Given the description of an element on the screen output the (x, y) to click on. 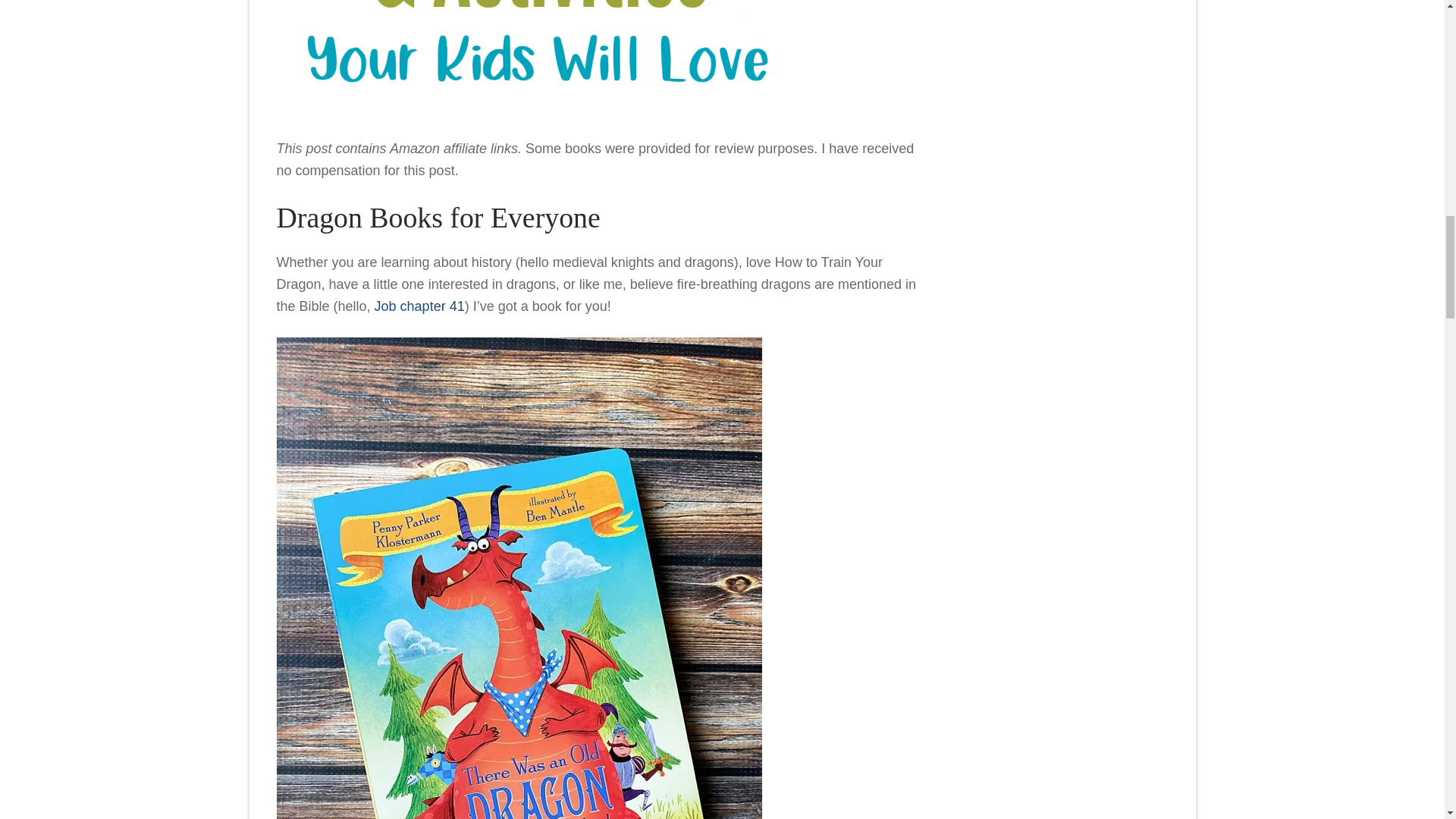
Job chapter 41 (419, 305)
